Given the description of an element on the screen output the (x, y) to click on. 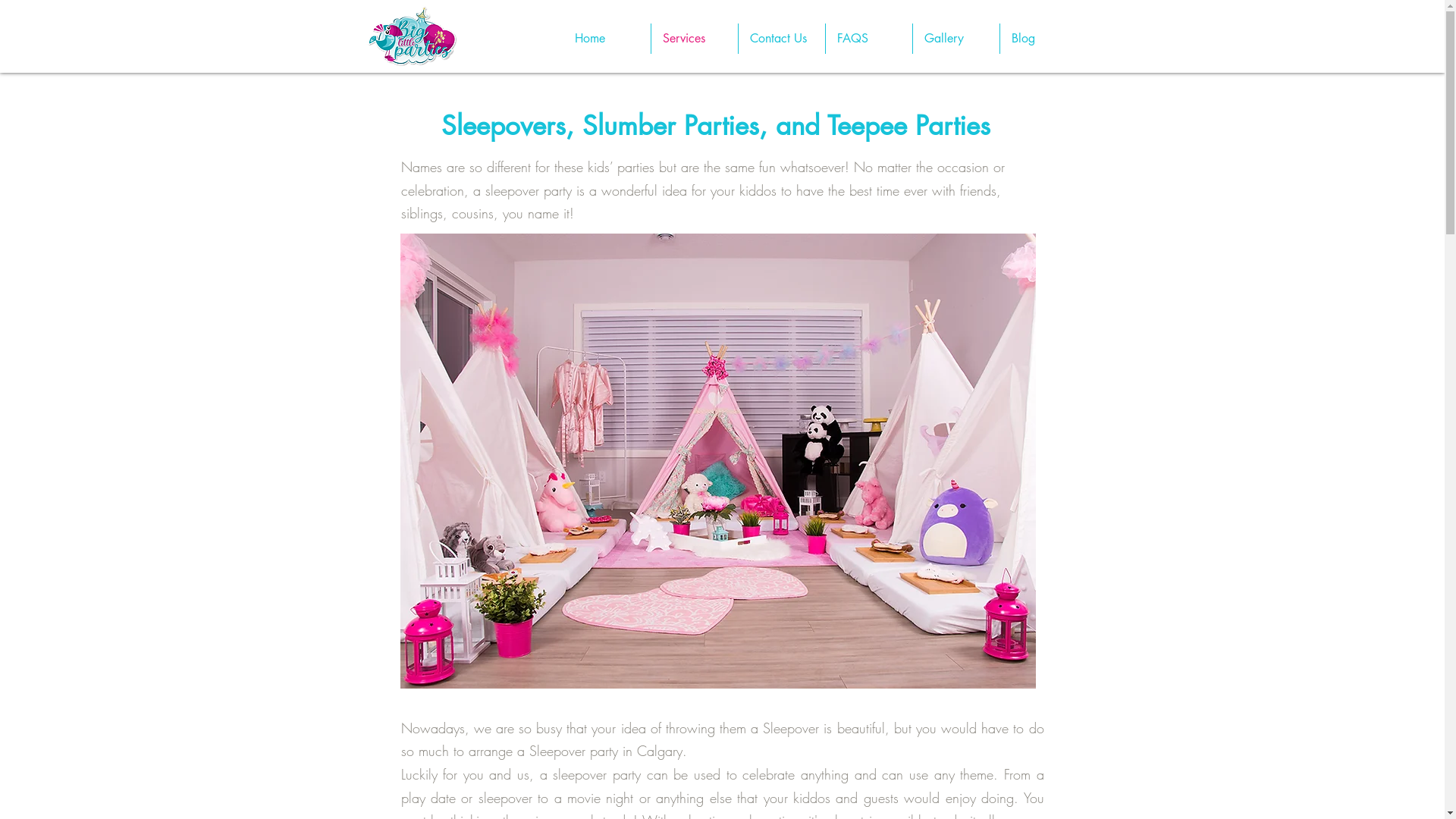
Gallery Element type: text (956, 38)
Services Element type: text (693, 38)
Contact Us Element type: text (781, 38)
Home Element type: text (605, 38)
FAQS Element type: text (868, 38)
Blog Element type: text (1042, 38)
